Given the description of an element on the screen output the (x, y) to click on. 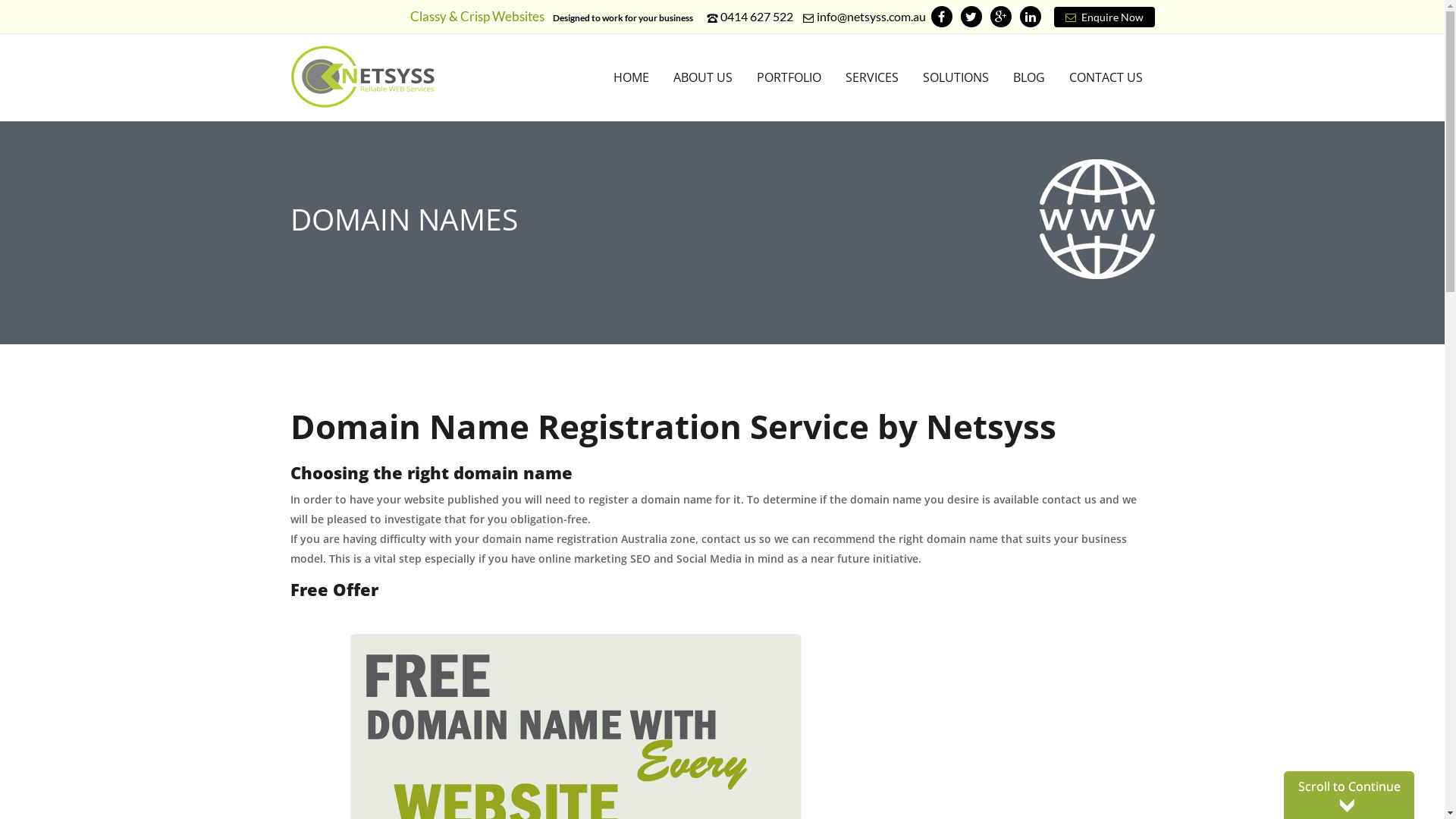
ABOUT US Element type: text (702, 76)
HOME Element type: text (630, 76)
BLOG Element type: text (1029, 76)
SERVICES Element type: text (871, 76)
Enquire Now Element type: text (1104, 16)
PORTFOLIO Element type: text (788, 76)
info@netsyss.com.au Element type: text (870, 16)
CONTACT US Element type: text (1105, 76)
SOLUTIONS Element type: text (955, 76)
